Given the description of an element on the screen output the (x, y) to click on. 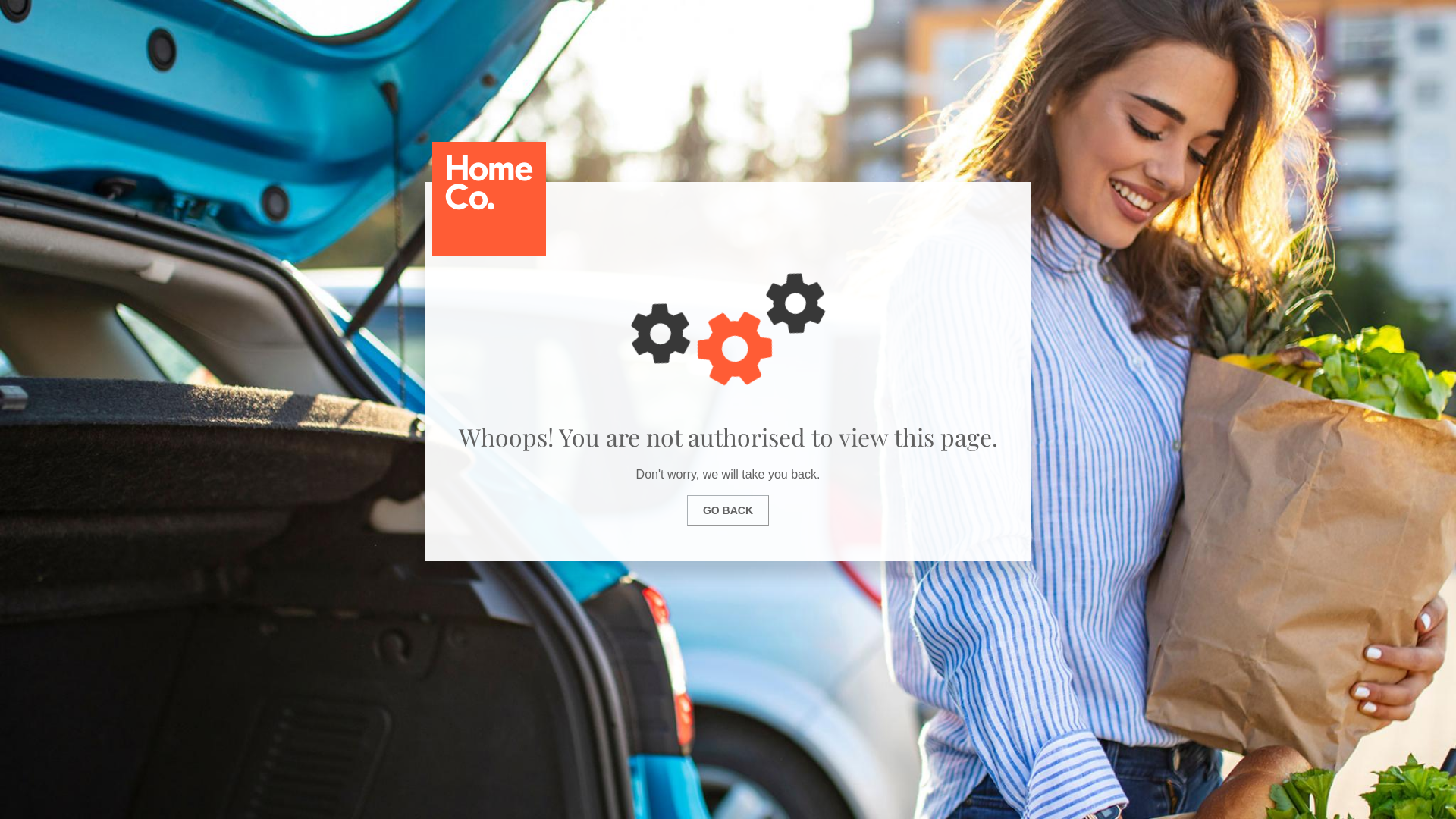
GO BACK Element type: text (727, 510)
